Given the description of an element on the screen output the (x, y) to click on. 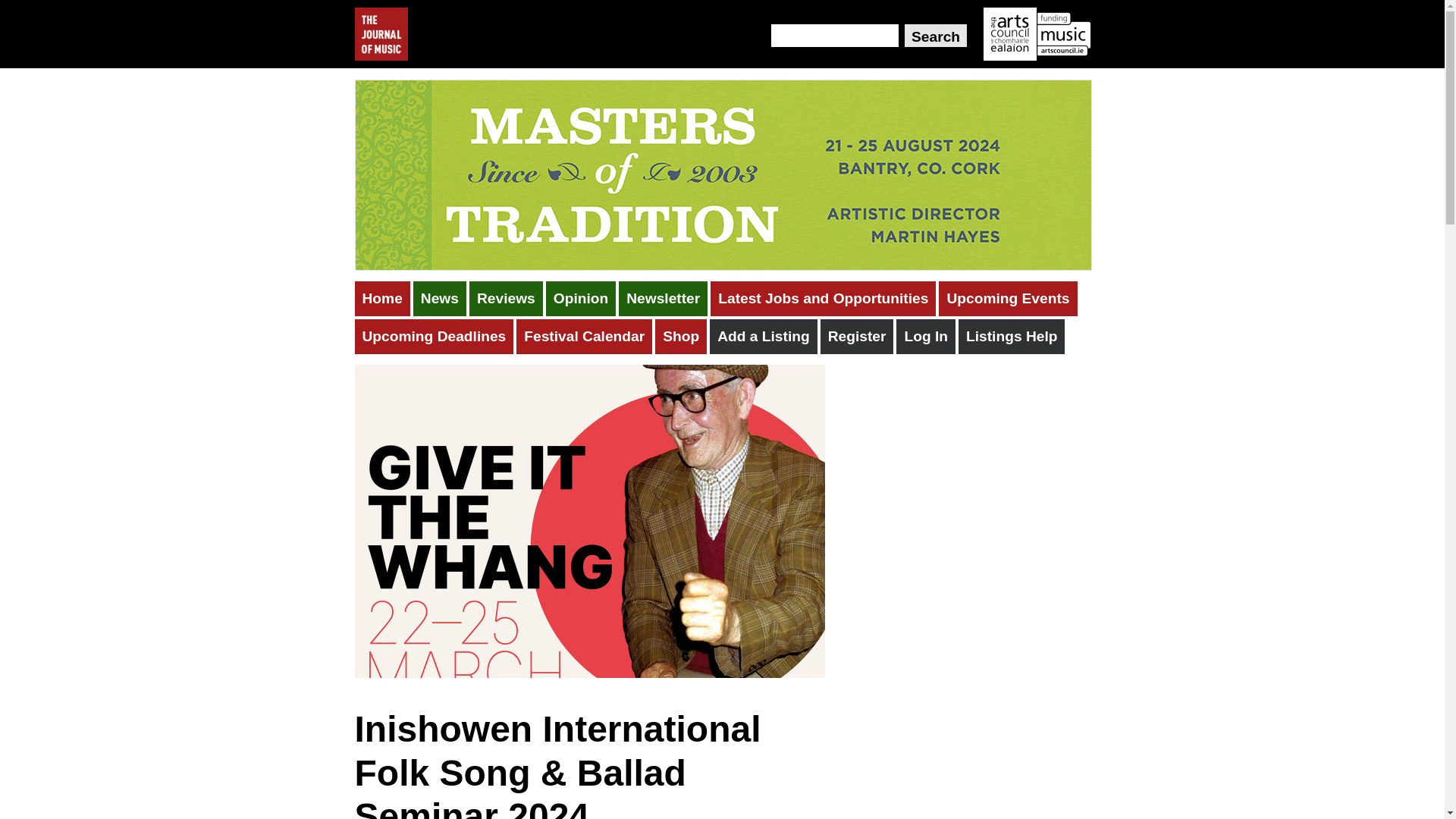
News (439, 298)
Reviews (505, 298)
Newsletter (662, 298)
Search (935, 35)
Enter the terms you wish to search for. (834, 35)
Search (935, 35)
Opinion (580, 298)
Latest Jobs and Opportunities (823, 298)
Home (382, 298)
